Given the description of an element on the screen output the (x, y) to click on. 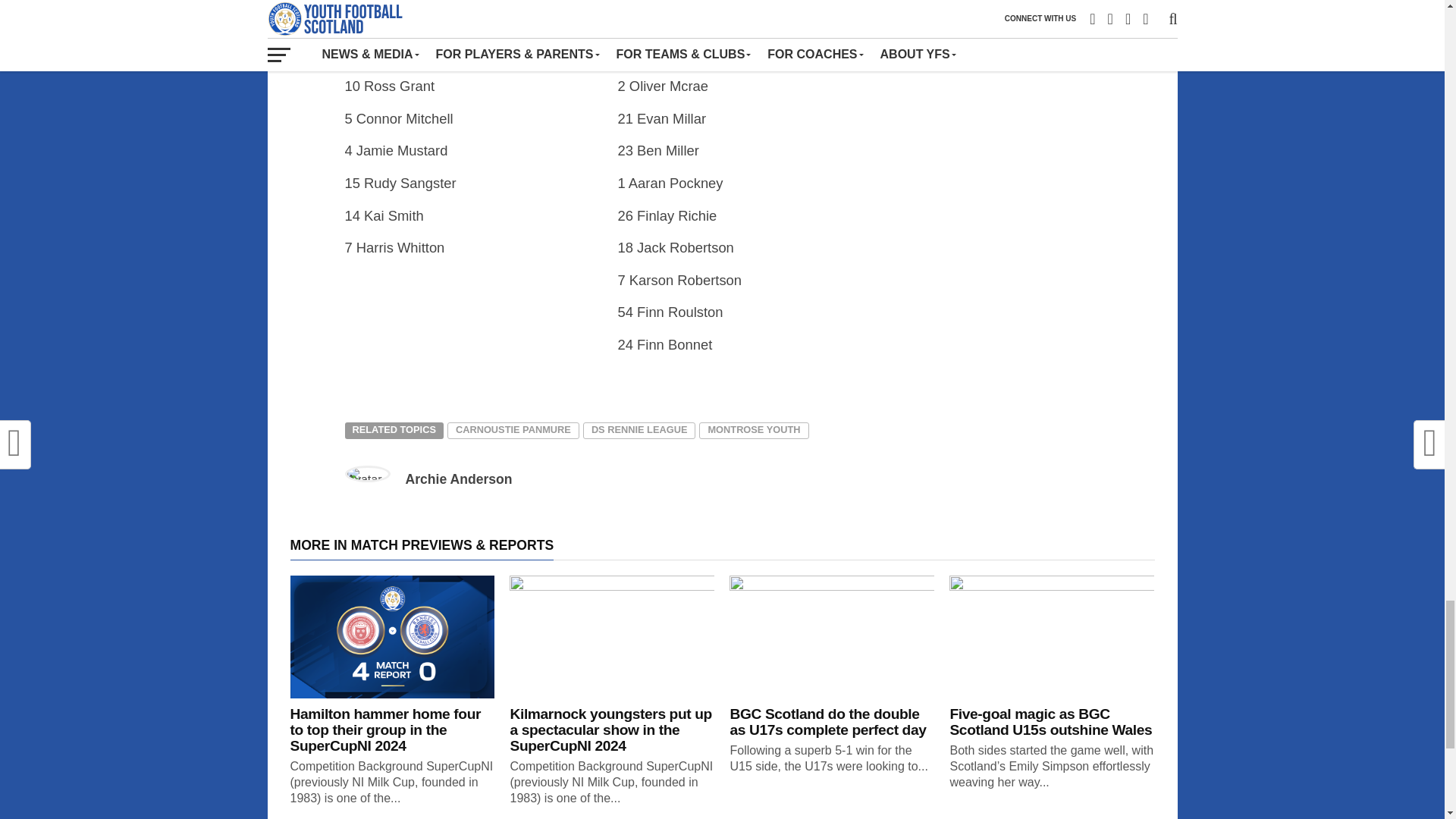
Posts by Archie Anderson (458, 478)
